Given the description of an element on the screen output the (x, y) to click on. 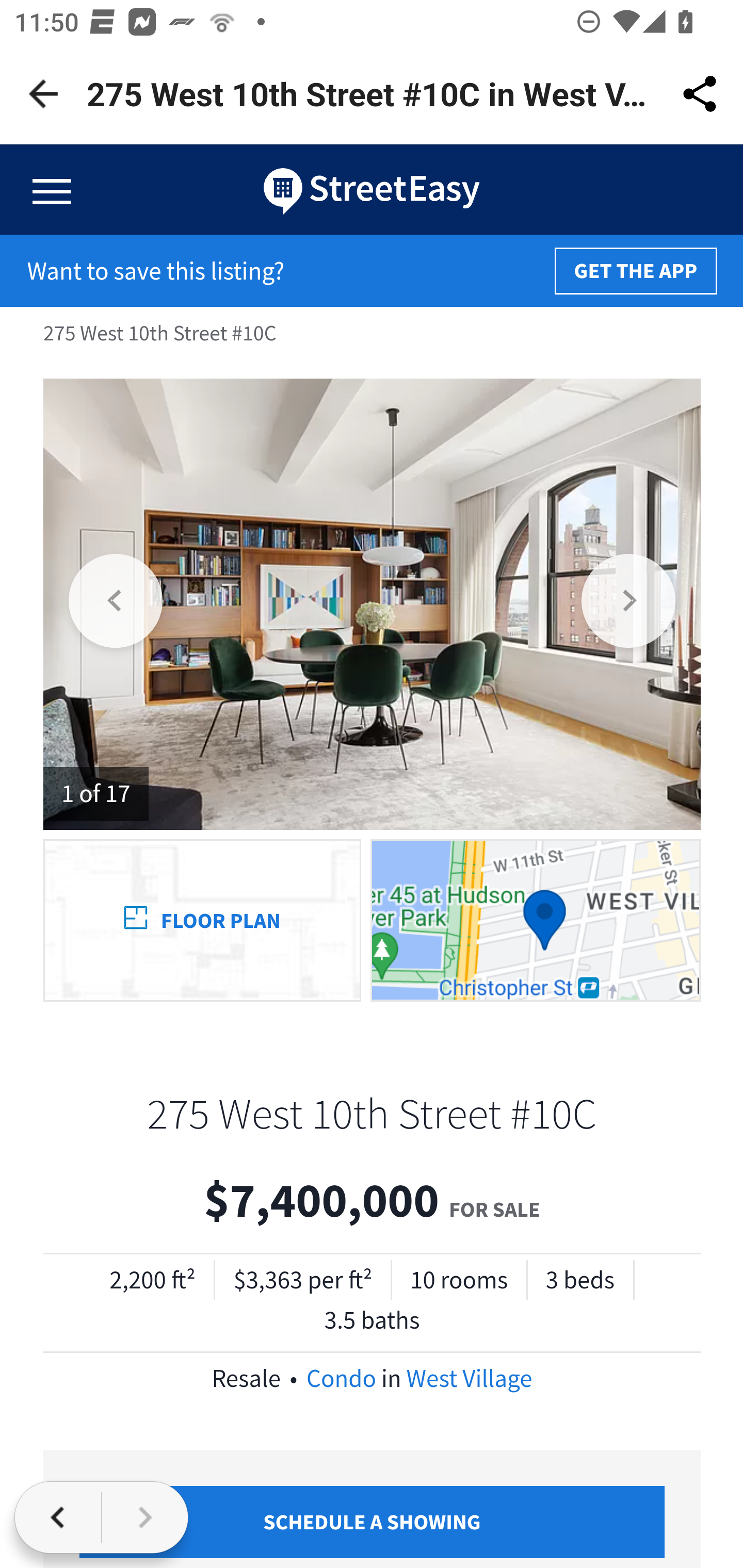
Skip Navigation (371, 190)
Previous (116, 603)
Next (629, 603)
 FLOOR PLAN (202, 919)
Map icon (535, 919)
275 West 10th Street #10C (371, 1113)
Condo (340, 1378)
West Village (468, 1378)
SCHEDULE A SHOWING (372, 1521)
